Given the description of an element on the screen output the (x, y) to click on. 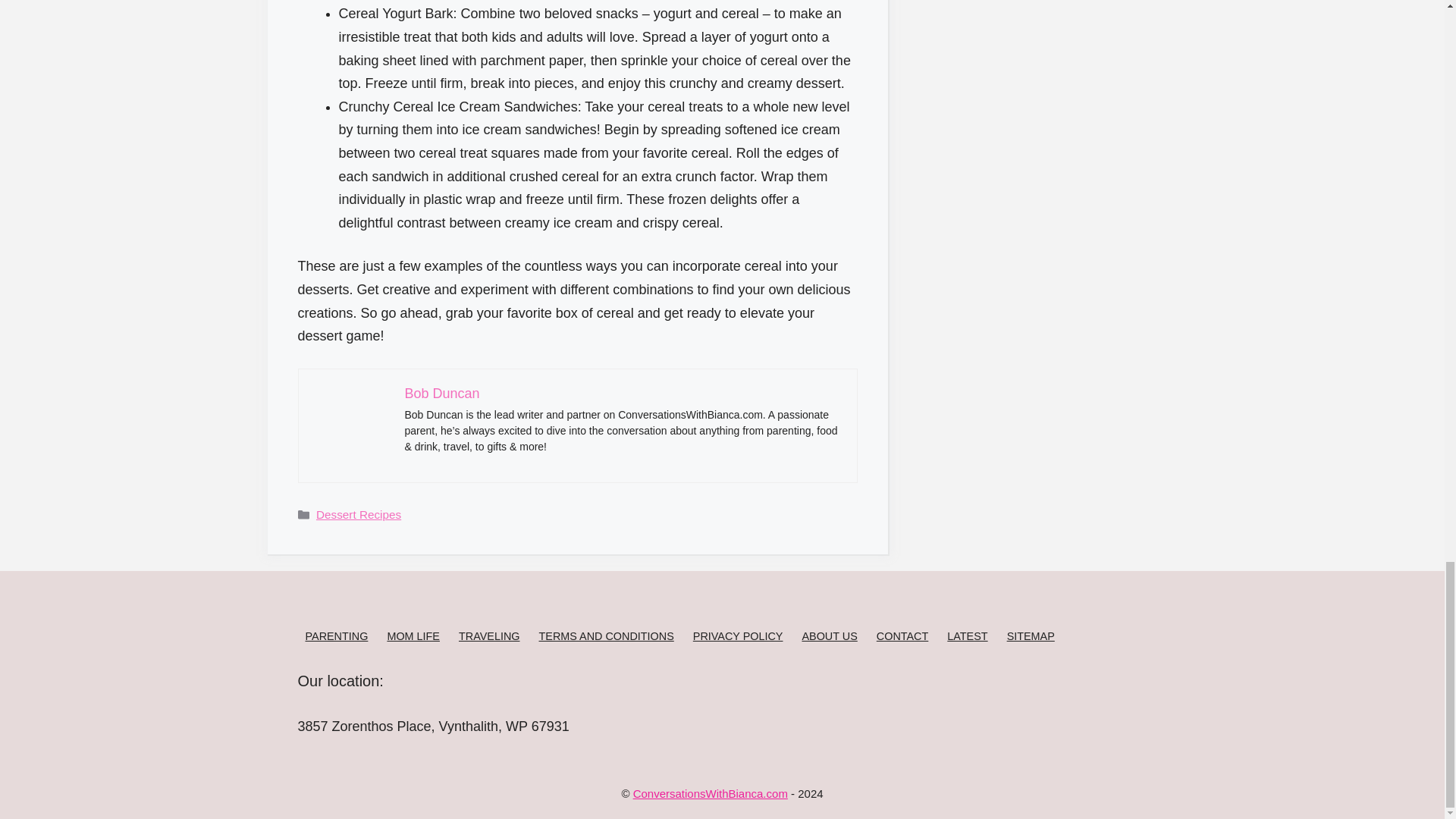
TRAVELING (488, 635)
TERMS AND CONDITIONS (605, 635)
CONTACT (902, 635)
MOM LIFE (413, 635)
ABOUT US (829, 635)
PRIVACY POLICY (738, 635)
LATEST (967, 635)
SITEMAP (1030, 635)
Dessert Recipes (358, 513)
PARENTING (336, 635)
